Given the description of an element on the screen output the (x, y) to click on. 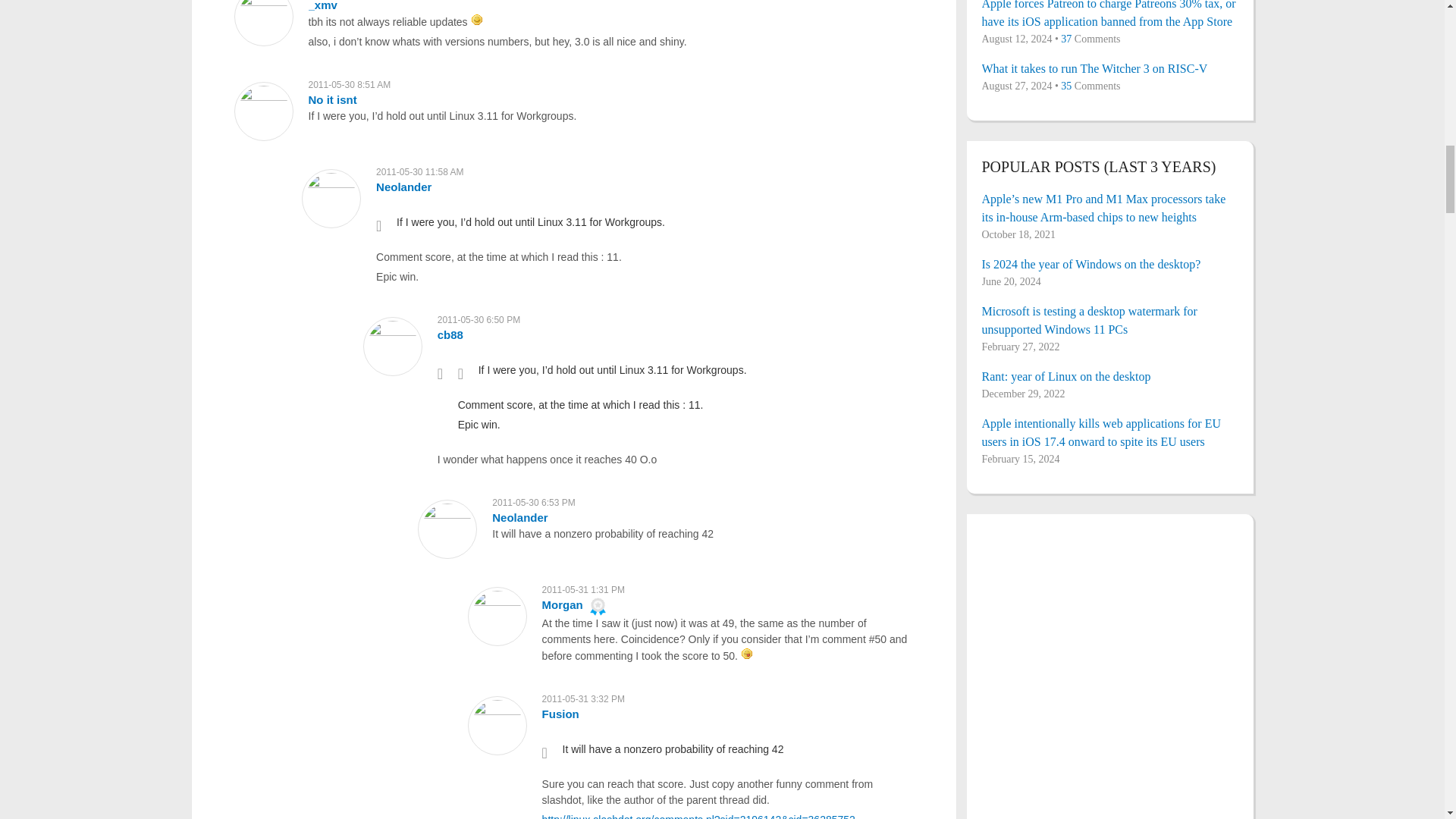
No it isnt (331, 99)
Neolander (402, 186)
Neolander (519, 517)
Fusion (560, 713)
Morgan (562, 604)
cb88 (450, 334)
